Given the description of an element on the screen output the (x, y) to click on. 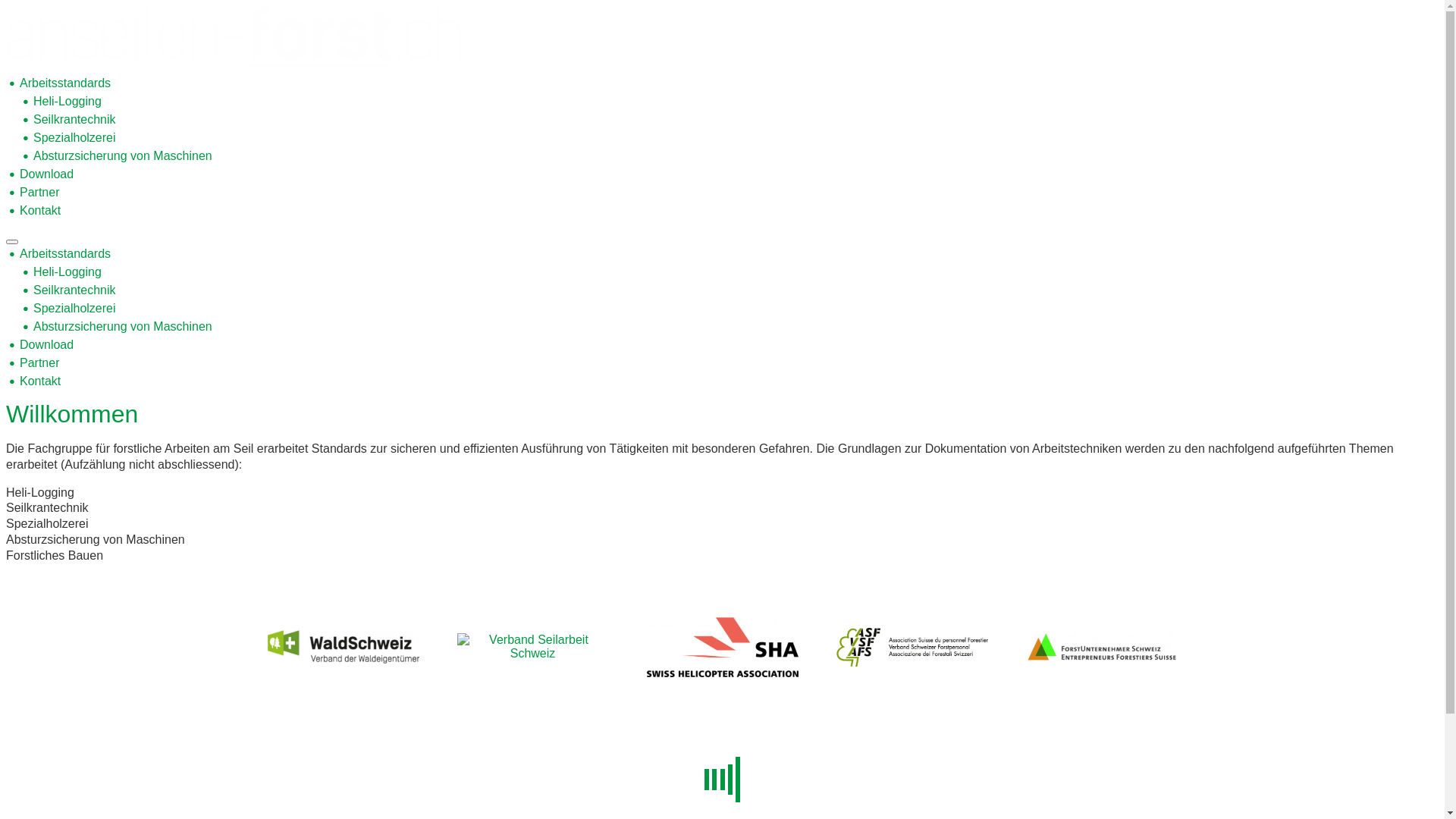
Heli-Logging Element type: text (67, 100)
Absturzsicherung von Maschinen Element type: text (122, 155)
Spezialholzerei Element type: text (74, 307)
Download Element type: text (46, 344)
Heli-Logging Element type: text (67, 271)
Seilkrantechnik Element type: text (74, 289)
Kontakt Element type: text (39, 209)
Download Element type: text (46, 173)
Partner Element type: text (39, 362)
Rechtliche Hinweise Element type: text (783, 739)
Spezialholzerei Element type: text (74, 137)
Partner Element type: text (39, 191)
Seilkrantechnik Element type: text (74, 118)
Arbeitsstandards Element type: text (64, 82)
Kontakt Element type: text (39, 380)
Arbeitsstandards Element type: text (64, 253)
Absturzsicherung von Maschinen Element type: text (122, 326)
Impressum Element type: text (641, 739)
Datenschutz Element type: text (702, 739)
mail@anseilen-forst.ch Element type: text (828, 717)
